Given the description of an element on the screen output the (x, y) to click on. 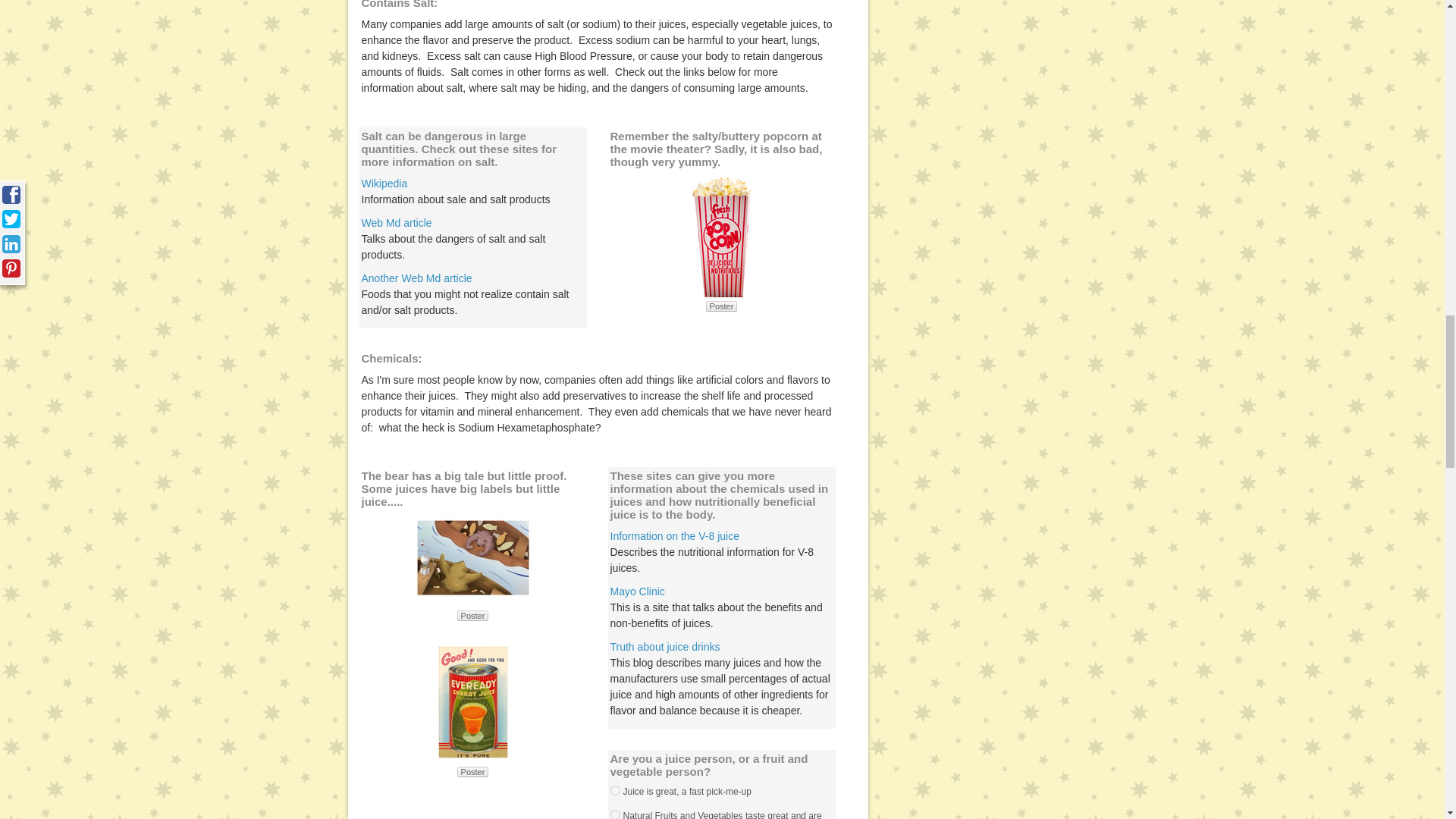
3 (615, 814)
Web Md article (395, 223)
Wikipedia (384, 183)
Another Web Md article (416, 277)
2 (615, 790)
